Given the description of an element on the screen output the (x, y) to click on. 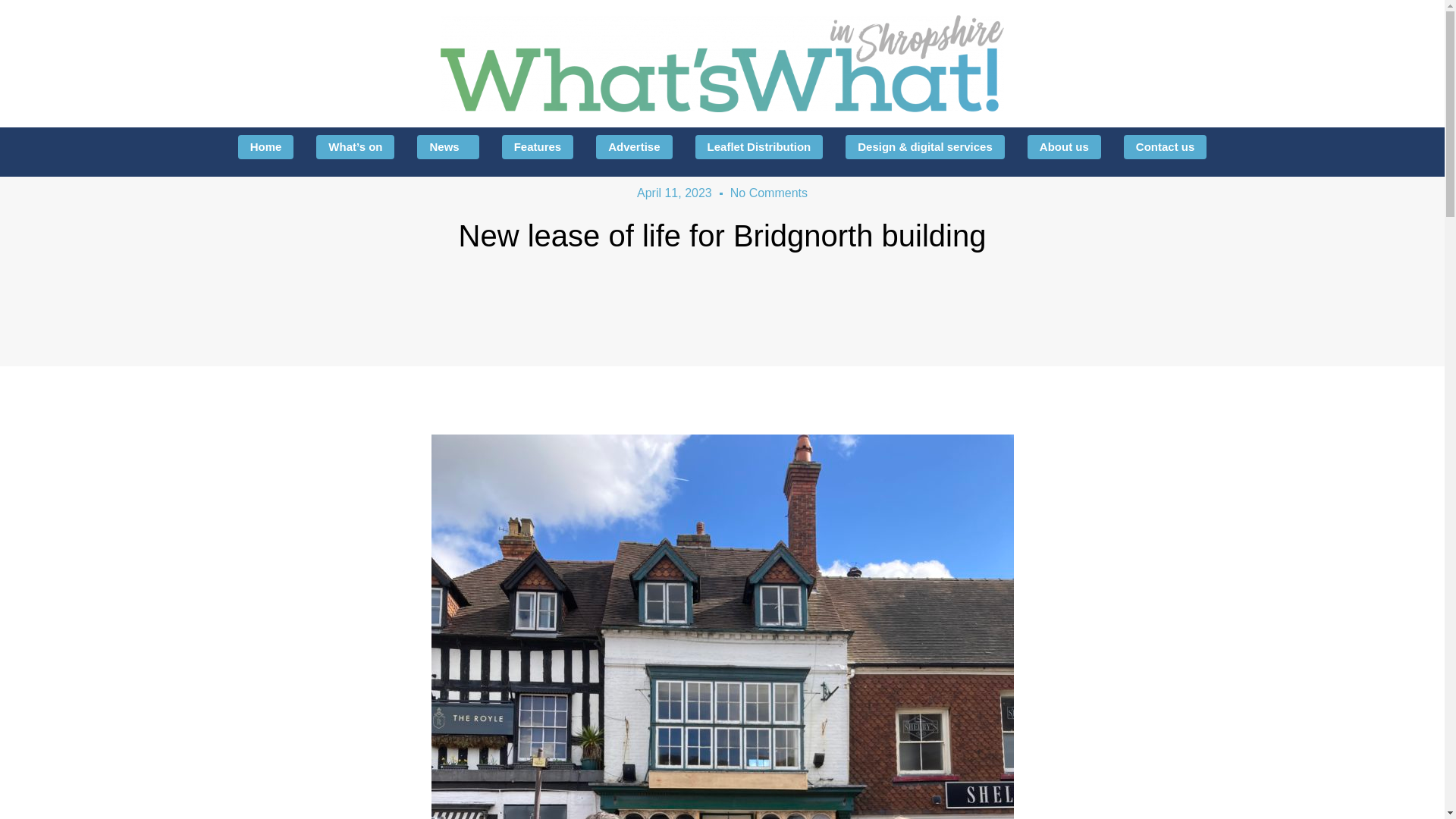
No Comments (769, 193)
Home (266, 146)
April 11, 2023 (674, 193)
About us (1063, 146)
Leaflet Distribution (759, 146)
Features (537, 146)
Advertise (633, 146)
News (447, 146)
Contact us (1165, 146)
